Given the description of an element on the screen output the (x, y) to click on. 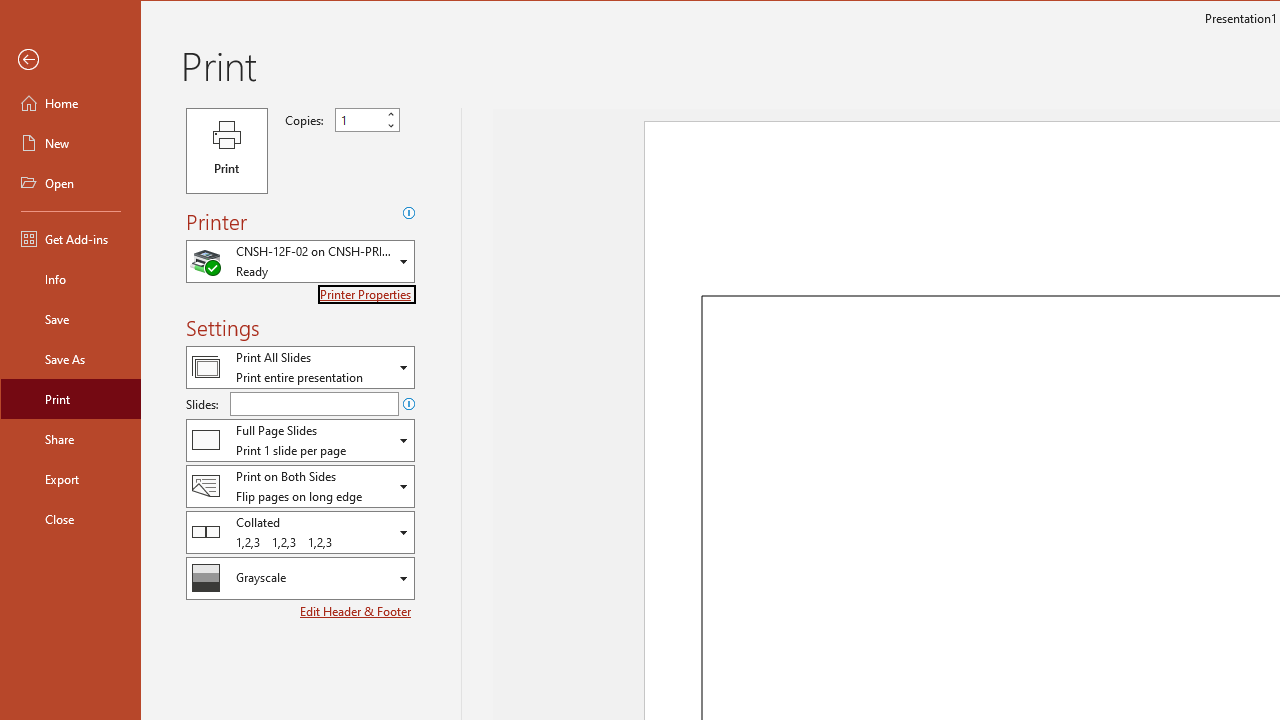
Print (226, 150)
Printer Properties (367, 294)
Info (70, 278)
Print What (299, 367)
Collation (299, 532)
Export (70, 478)
Save As (70, 358)
Two-Sided Printing (299, 486)
Copies (358, 119)
Color/Grayscale (299, 578)
